Given the description of an element on the screen output the (x, y) to click on. 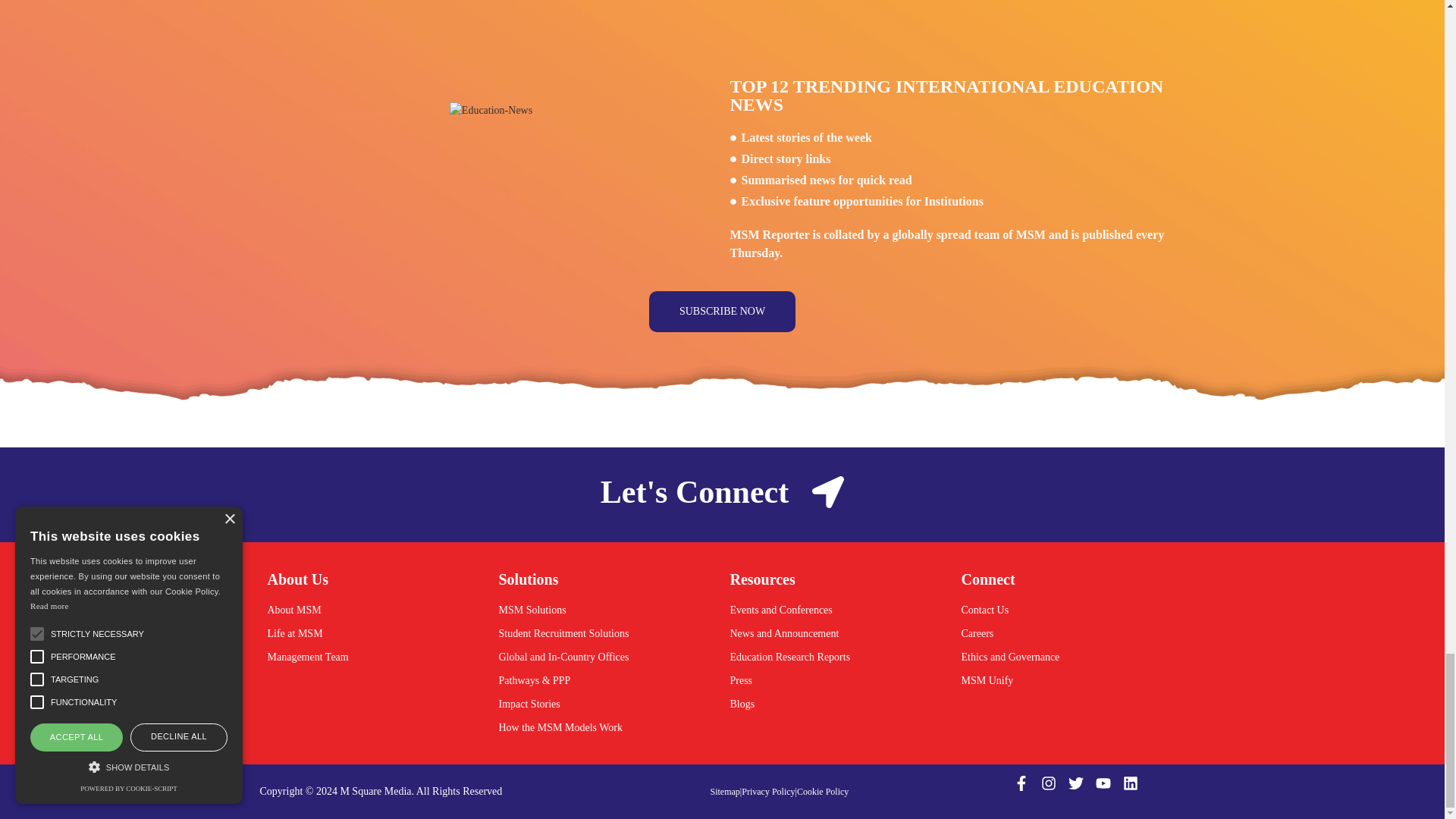
MSM Report Banner (490, 109)
